Given the description of an element on the screen output the (x, y) to click on. 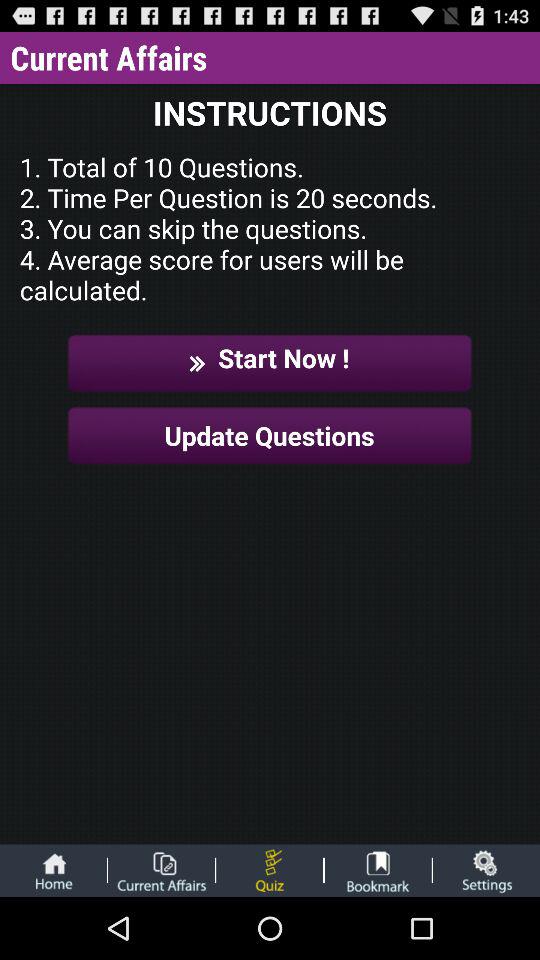
home (53, 870)
